Given the description of an element on the screen output the (x, y) to click on. 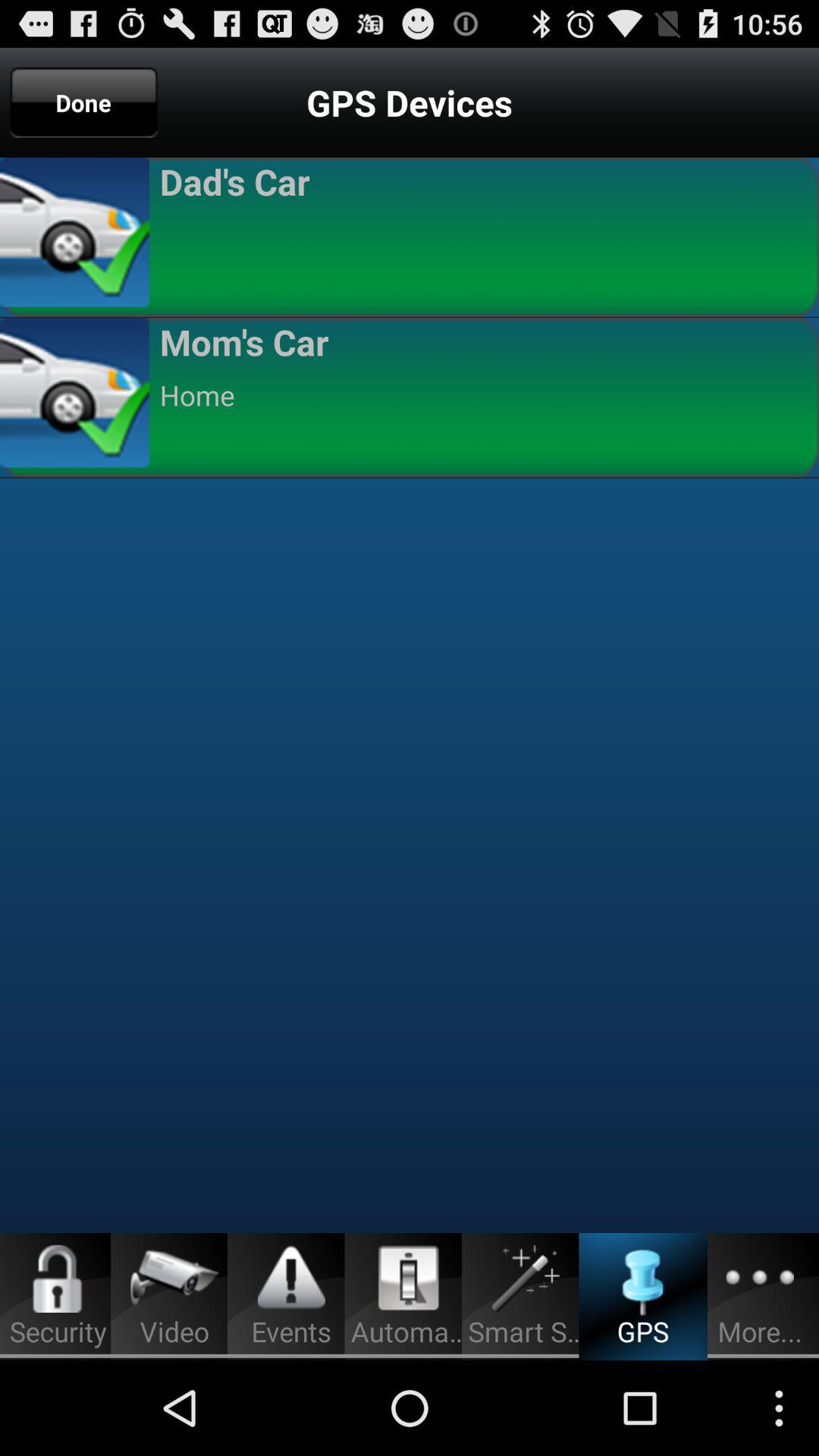
turn on icon below the dad's car item (481, 234)
